Given the description of an element on the screen output the (x, y) to click on. 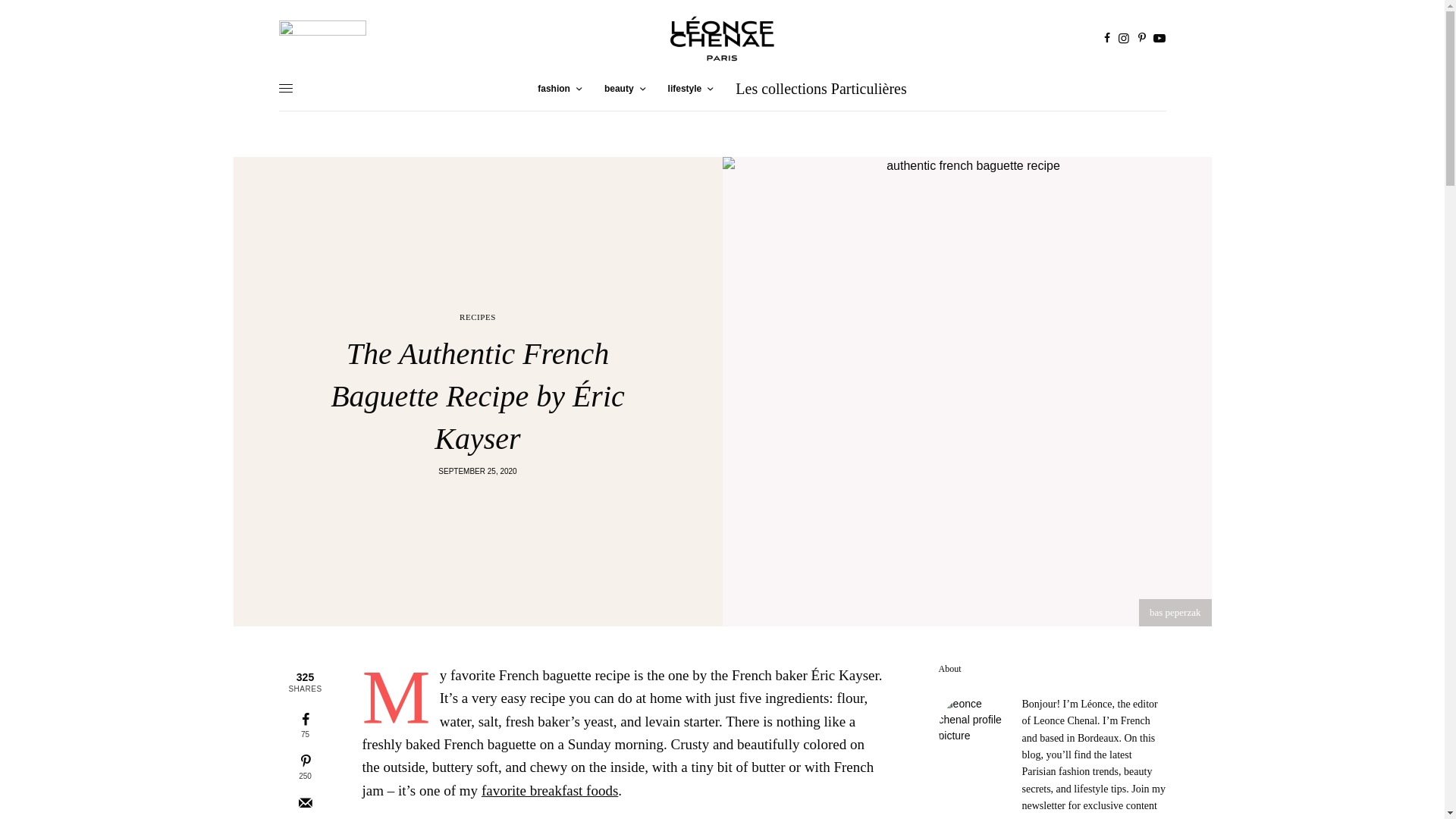
beauty (624, 87)
lifestyle (690, 87)
250 (304, 766)
fashion (558, 87)
favorite breakfast foods (549, 790)
RECIPES (478, 316)
75 (304, 724)
